Given the description of an element on the screen output the (x, y) to click on. 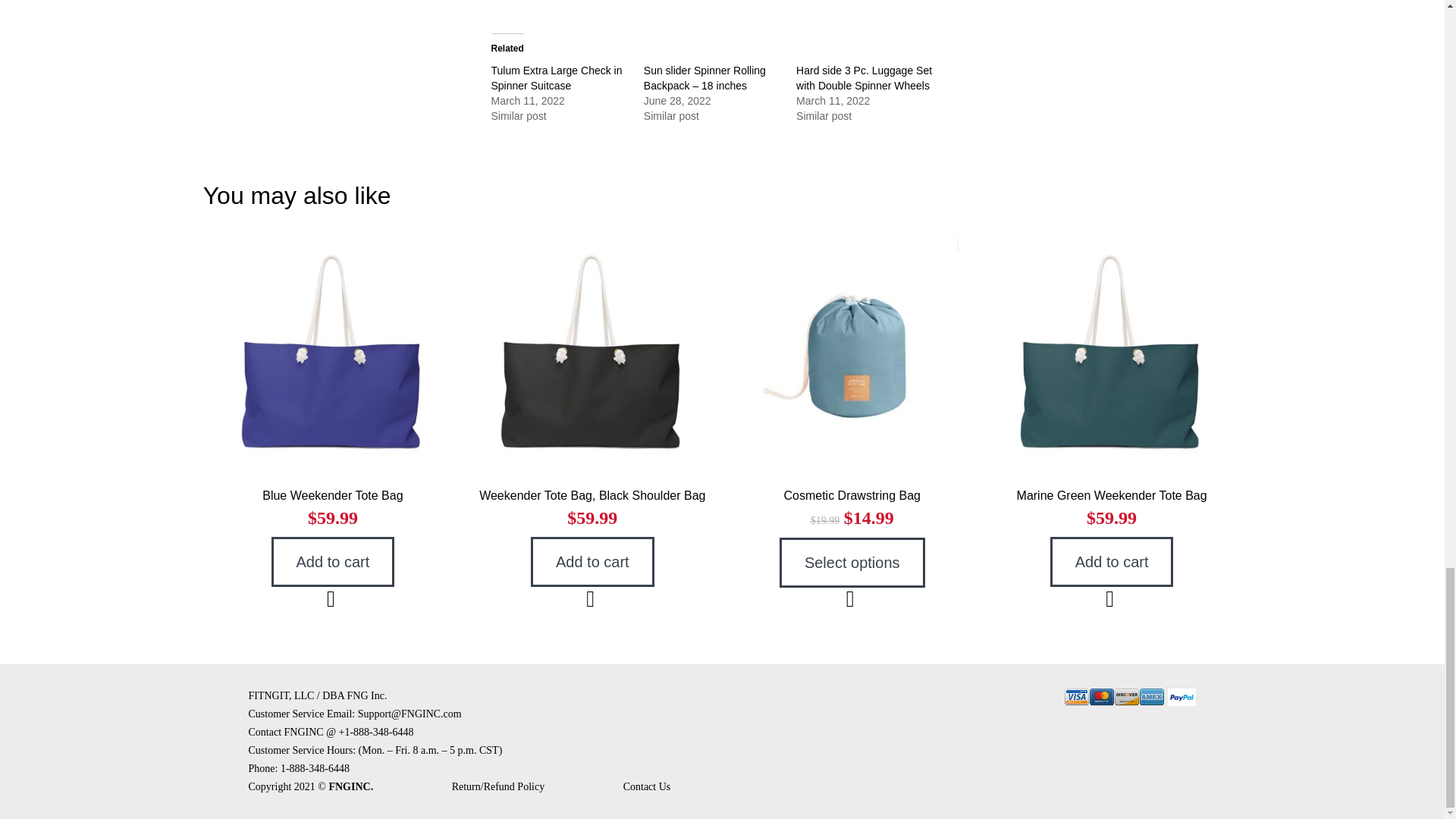
Tulum Extra Large Check in Spinner Suitcase (557, 77)
